Given the description of an element on the screen output the (x, y) to click on. 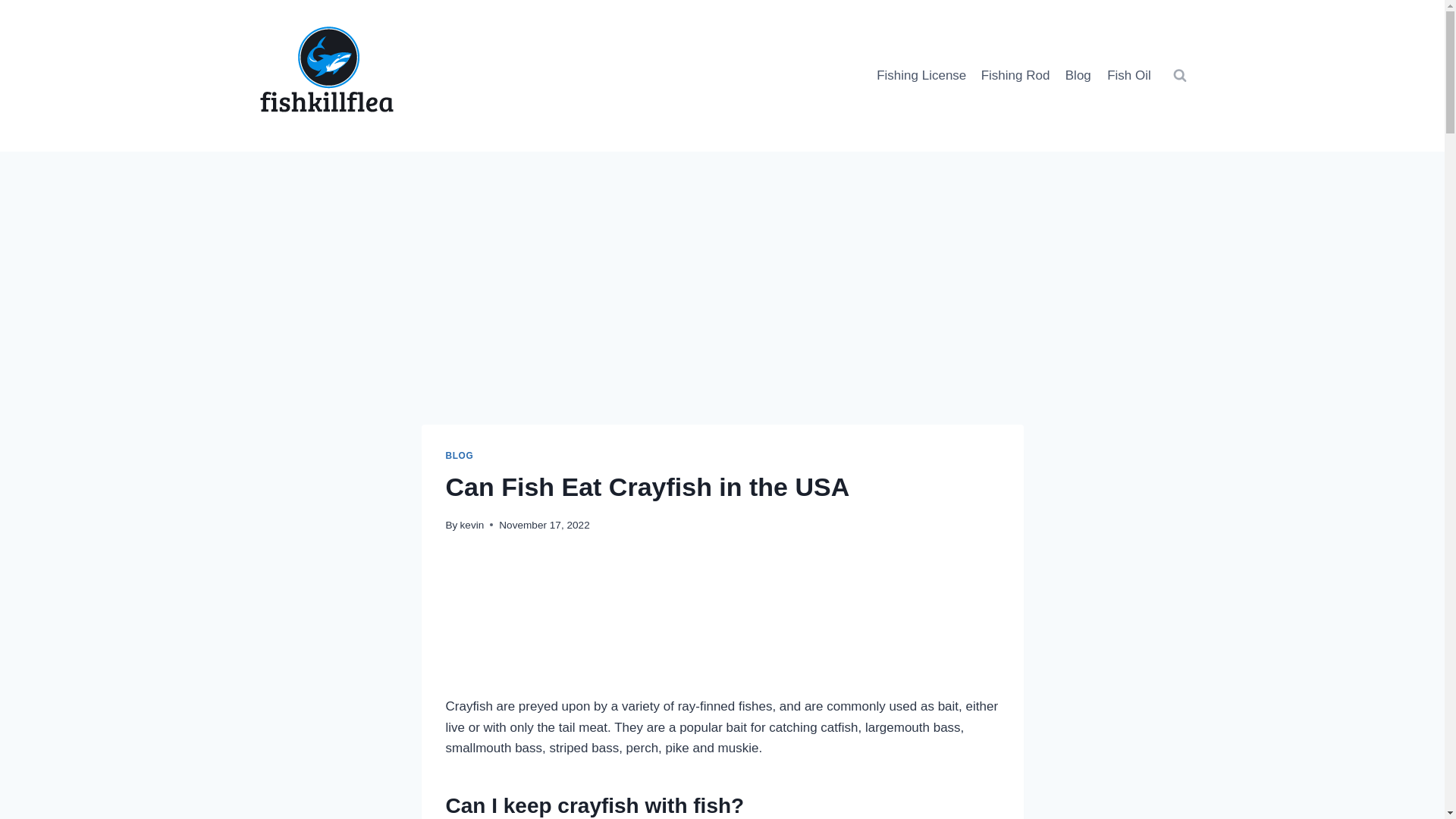
Advertisement (722, 318)
Fish Oil (1128, 75)
Fishing License (921, 75)
Blog (1078, 75)
kevin (472, 524)
Fishing Rod (1016, 75)
Advertisement (721, 626)
BLOG (459, 455)
